Given the description of an element on the screen output the (x, y) to click on. 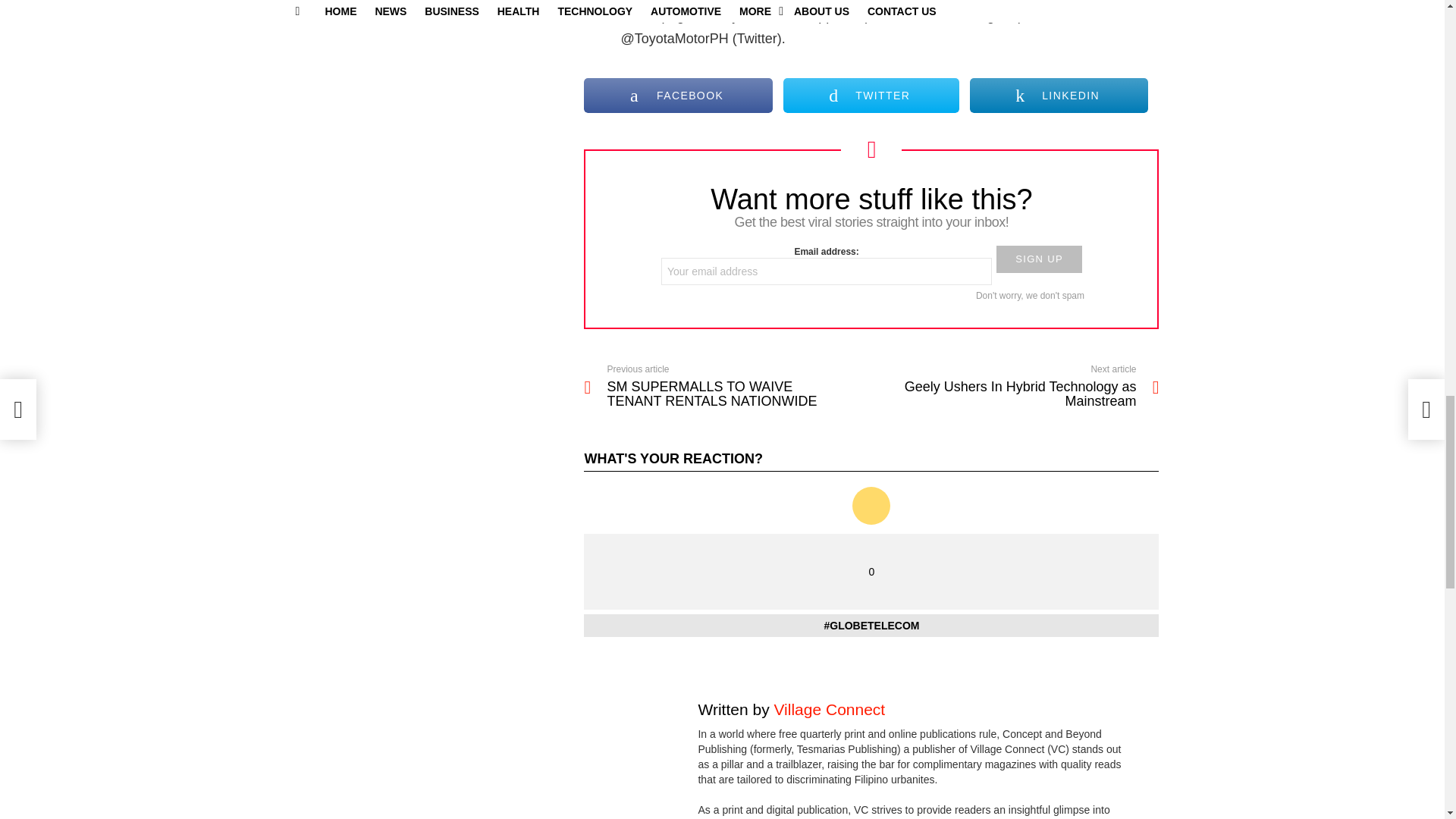
Share on LinkedIn (1058, 95)
Share on Facebook (677, 95)
Share on Twitter (871, 95)
Village Connect (829, 709)
TWITTER (871, 95)
FACEBOOK (677, 95)
Sign up (1038, 258)
Sign up (1038, 258)
LINKEDIN (1058, 95)
